Given the description of an element on the screen output the (x, y) to click on. 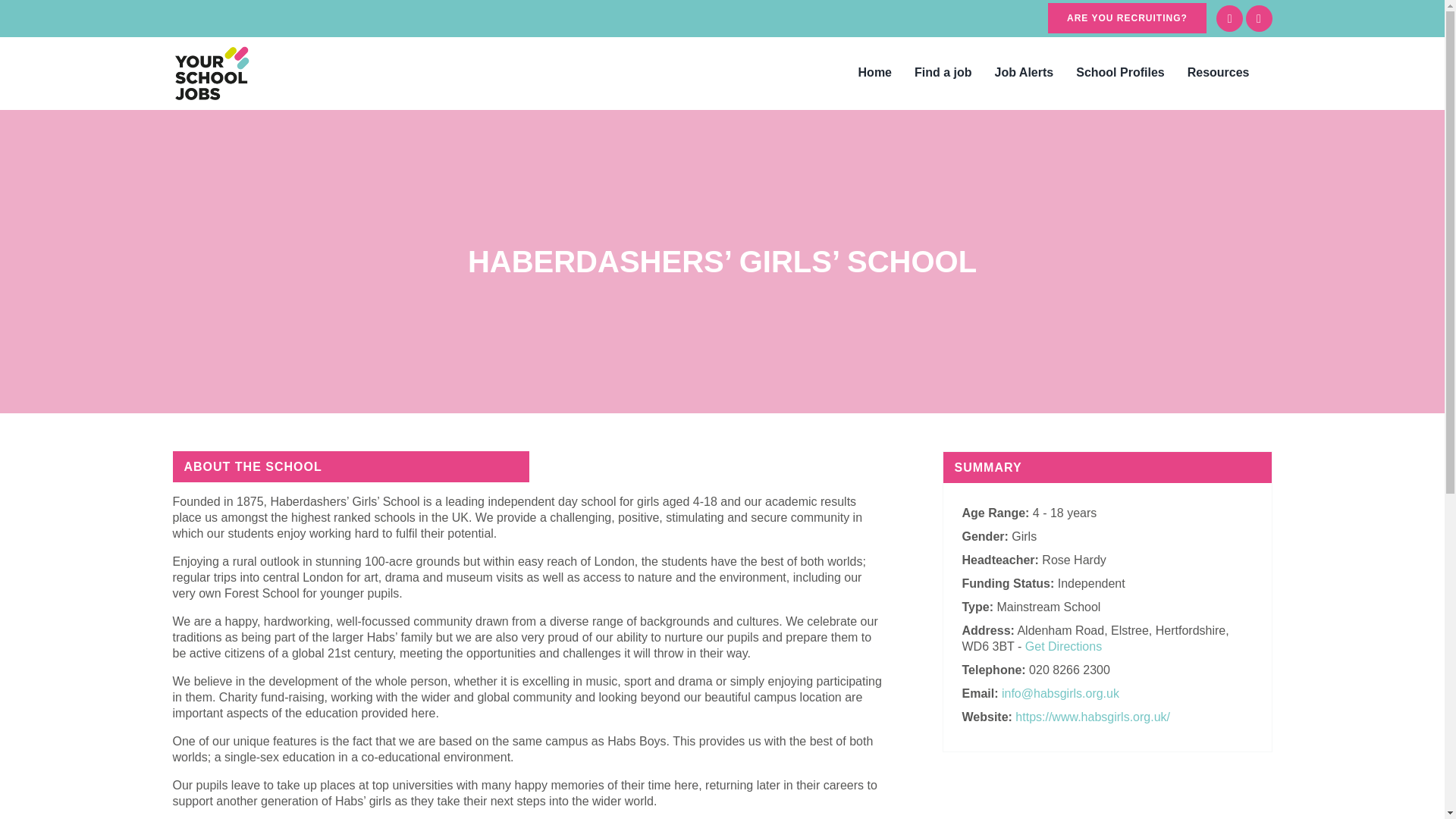
School Profiles (1119, 72)
Get Directions (1063, 645)
ARE YOU RECRUITING? (1127, 18)
